Given the description of an element on the screen output the (x, y) to click on. 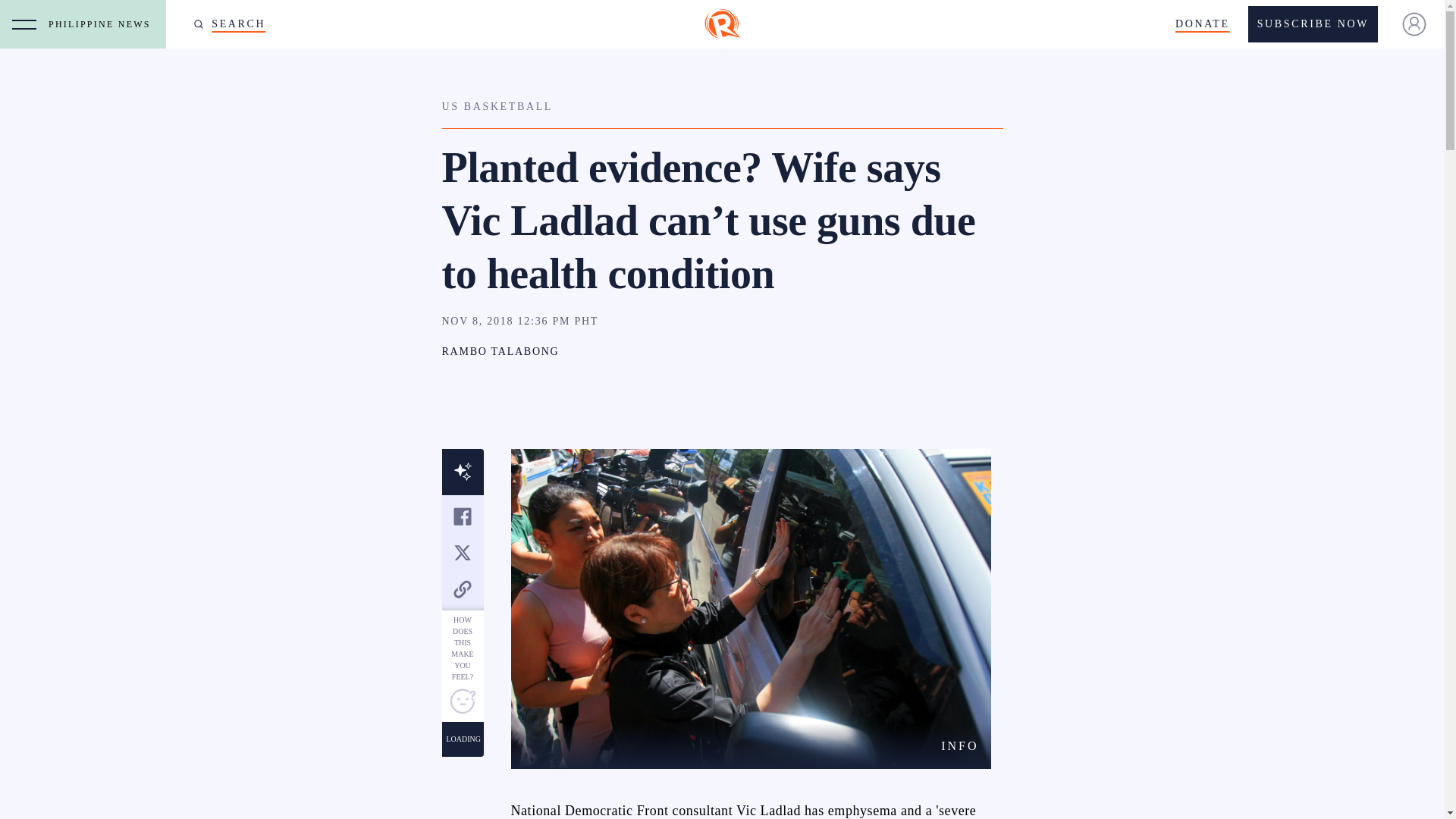
OPEN NAVIGATION (24, 24)
PHILIPPINE NEWS (103, 23)
